Given the description of an element on the screen output the (x, y) to click on. 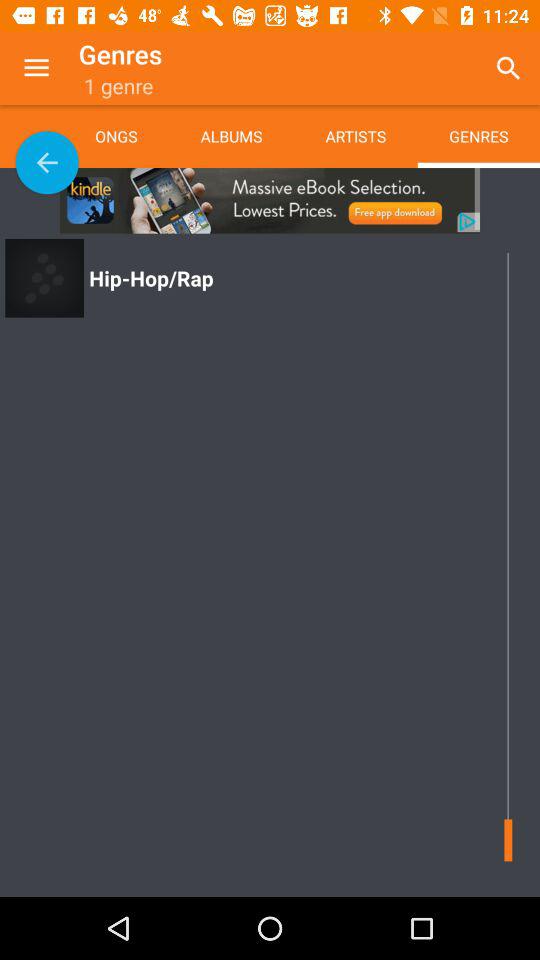
open kindle advertisement (270, 200)
